Given the description of an element on the screen output the (x, y) to click on. 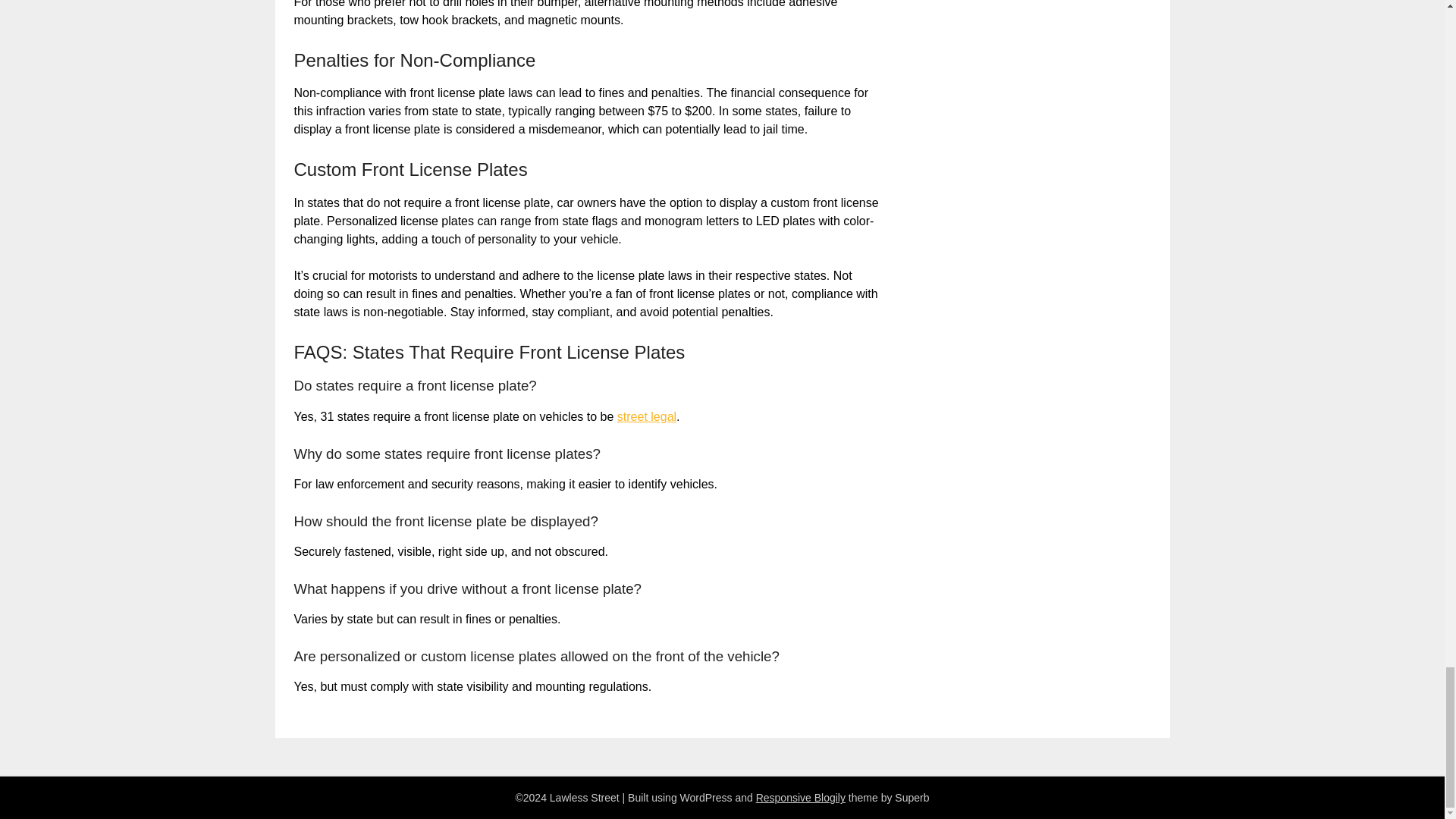
street legal (647, 416)
